Given the description of an element on the screen output the (x, y) to click on. 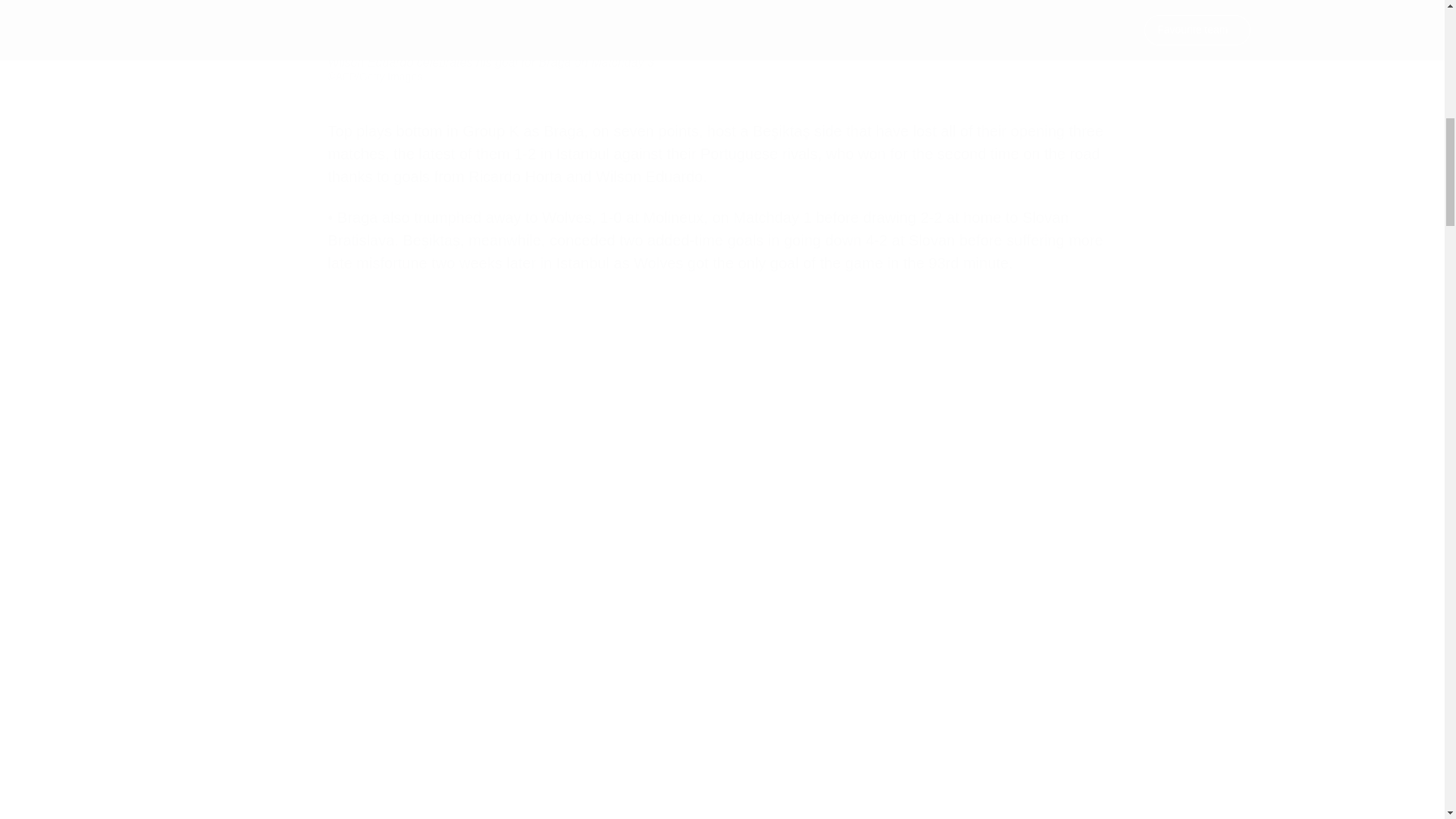
Wilson Eduardo celebrates his goal for Braga on Matchday 3 (721, 22)
